Given the description of an element on the screen output the (x, y) to click on. 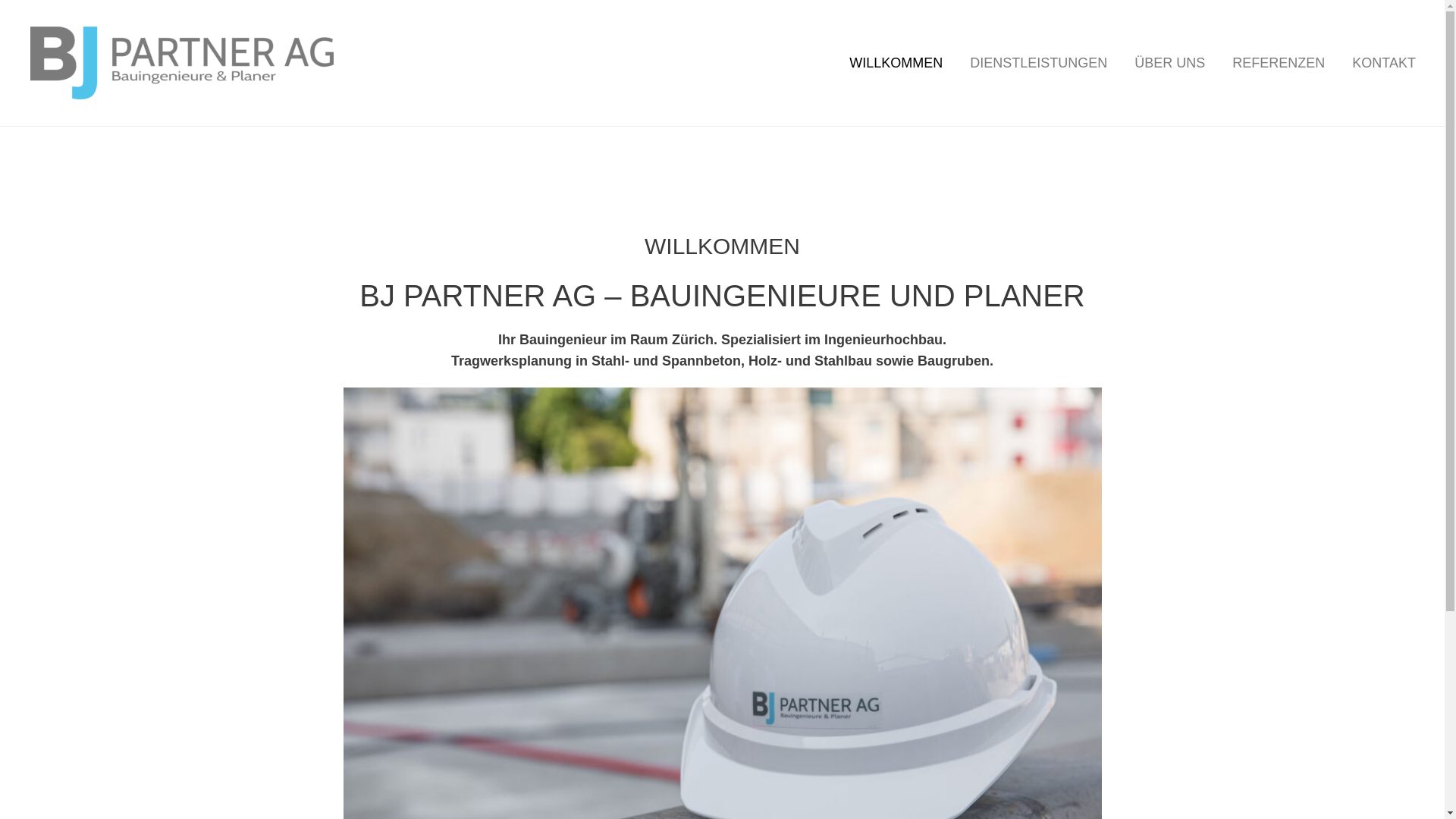
DIENSTLEISTUNGEN Element type: text (1038, 62)
KONTAKT Element type: text (1383, 62)
WILLKOMMEN Element type: text (895, 62)
REFERENZEN Element type: text (1278, 62)
